Given the description of an element on the screen output the (x, y) to click on. 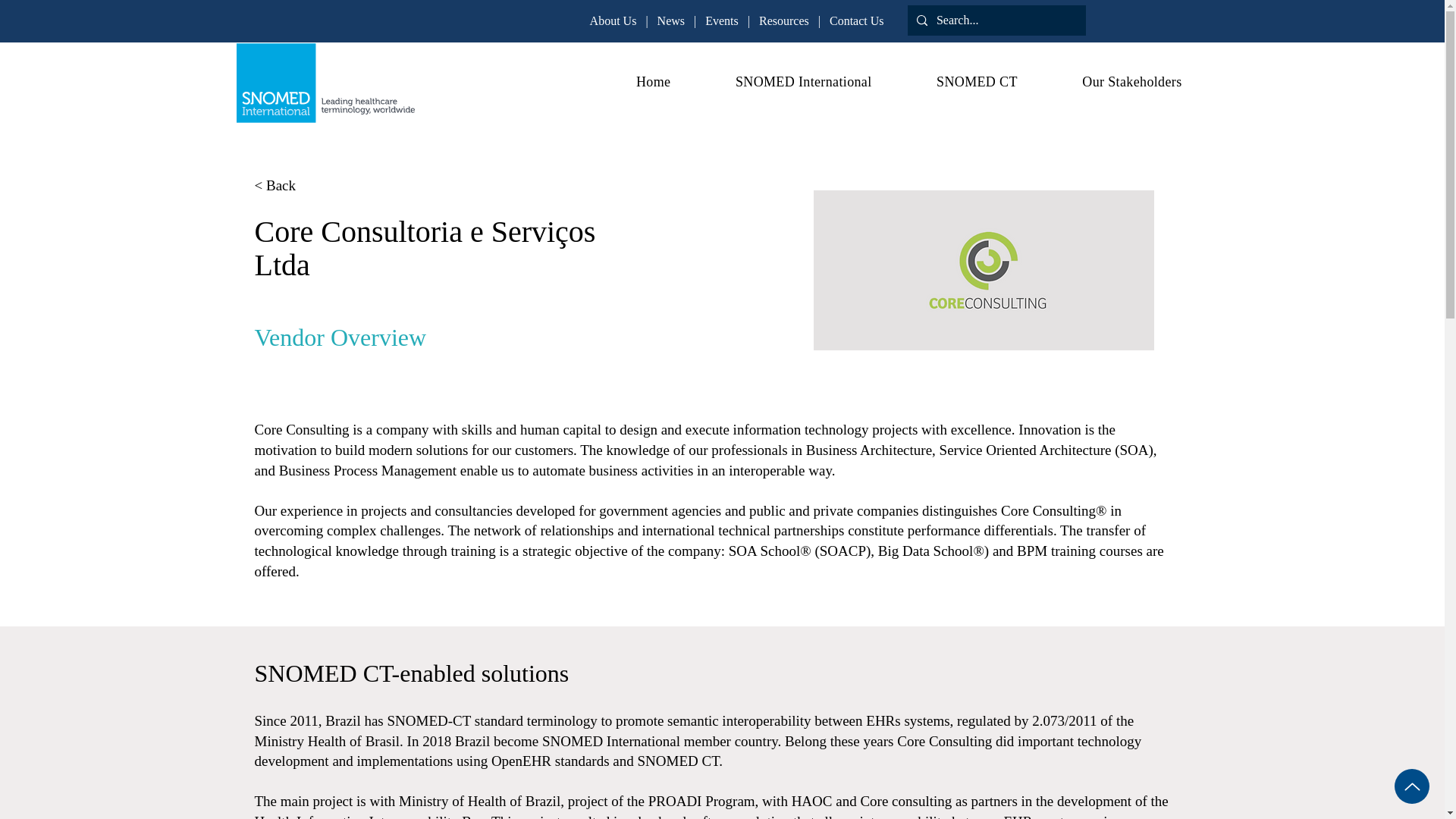
News (671, 20)
Our Stakeholders (1109, 81)
About Us (613, 20)
Home (631, 81)
Contact Us (856, 20)
Events (721, 20)
Resources (783, 20)
